Given the description of an element on the screen output the (x, y) to click on. 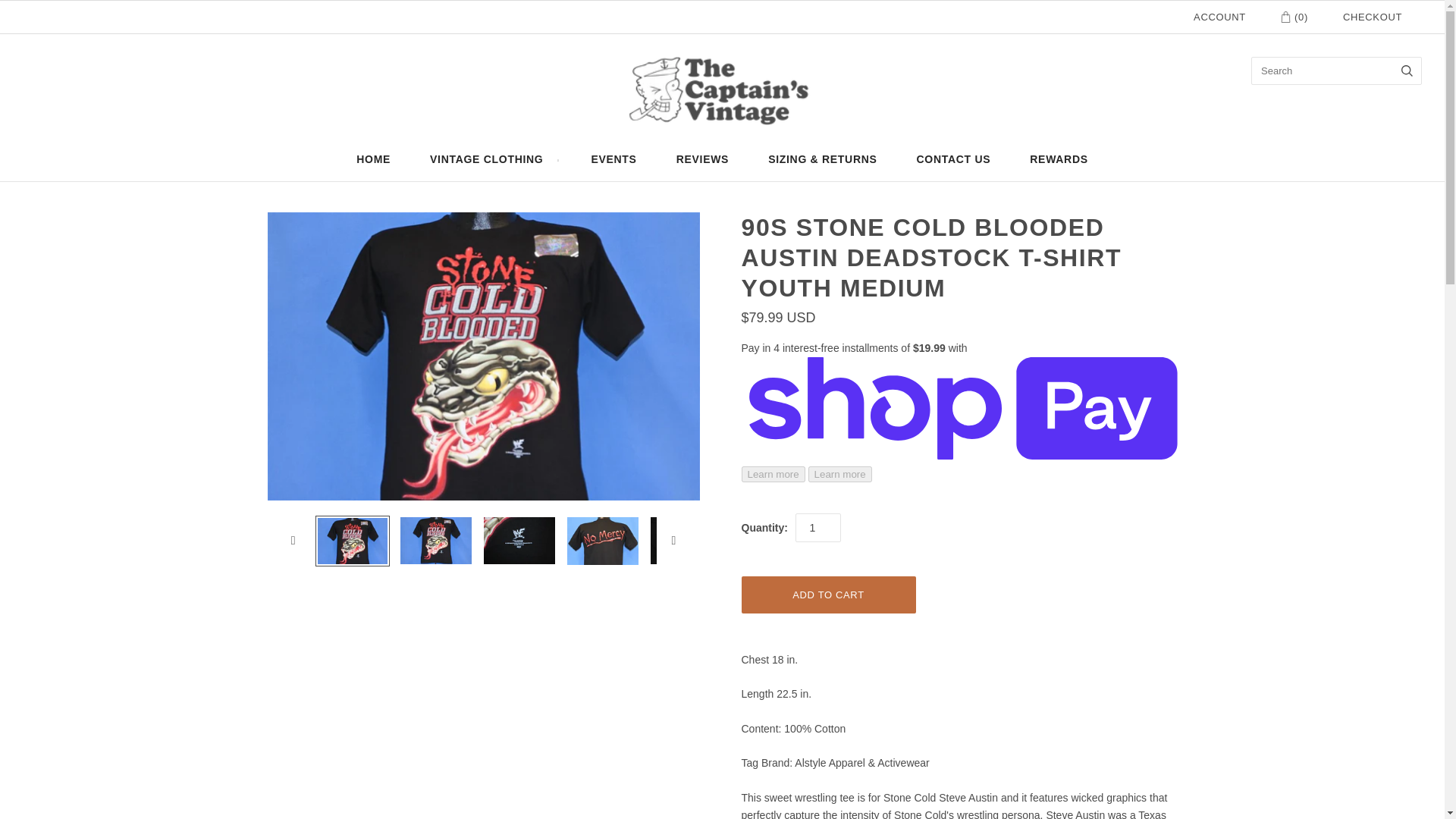
EVENTS (613, 159)
CONTACT US (953, 159)
Add to cart (828, 594)
HOME (373, 159)
CHECKOUT (1372, 17)
REVIEWS (702, 159)
ACCOUNT (1219, 16)
1 (817, 527)
REWARDS (1058, 159)
